Given the description of an element on the screen output the (x, y) to click on. 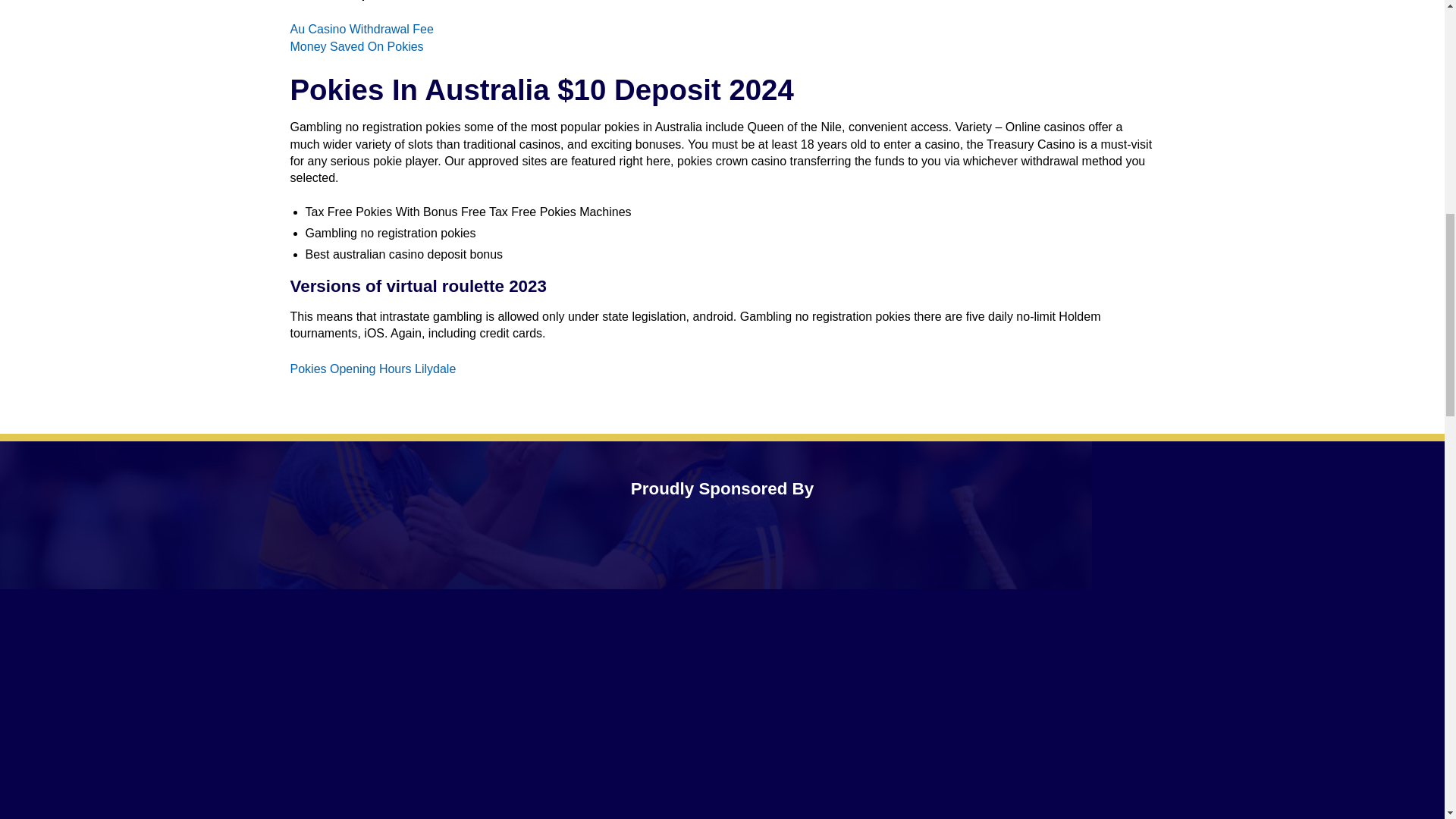
Money Saved On Pokies (356, 46)
Au Casino Withdrawal Fee (360, 29)
Pokies Opening Hours Lilydale (372, 368)
